Given the description of an element on the screen output the (x, y) to click on. 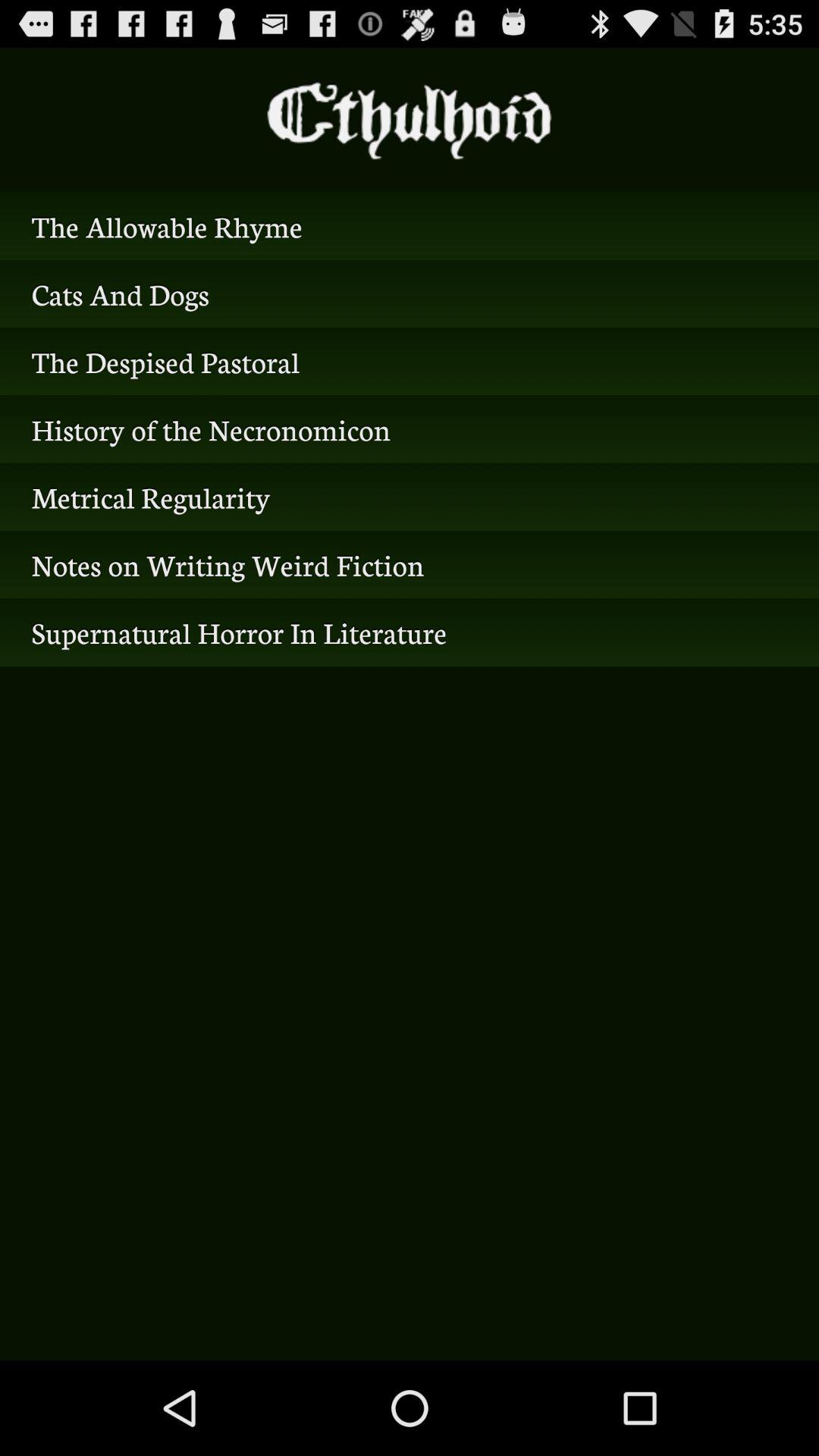
choose the item above the notes on writing item (409, 496)
